Given the description of an element on the screen output the (x, y) to click on. 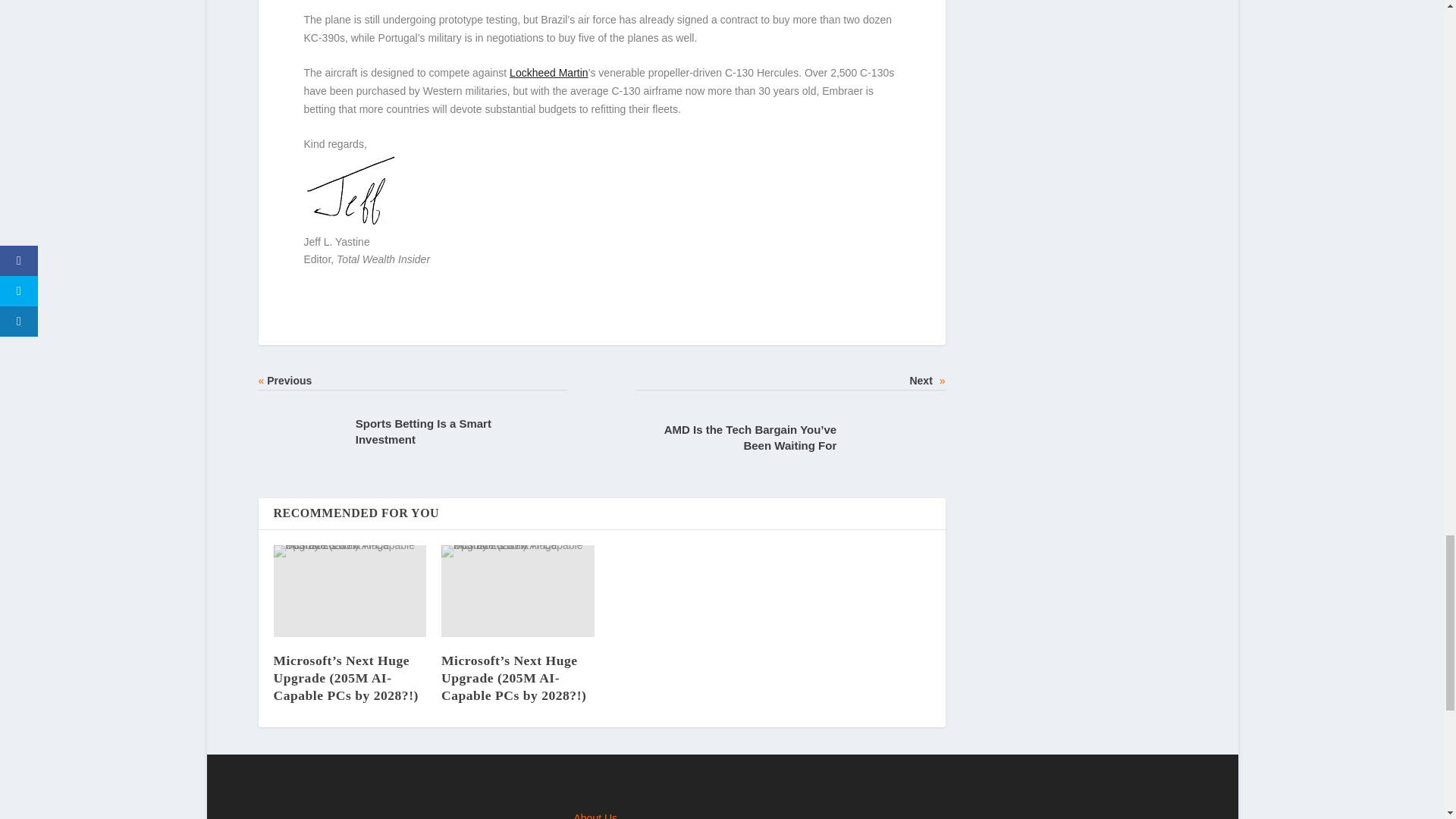
Lockheed Martin (548, 72)
About Us (595, 815)
